Given the description of an element on the screen output the (x, y) to click on. 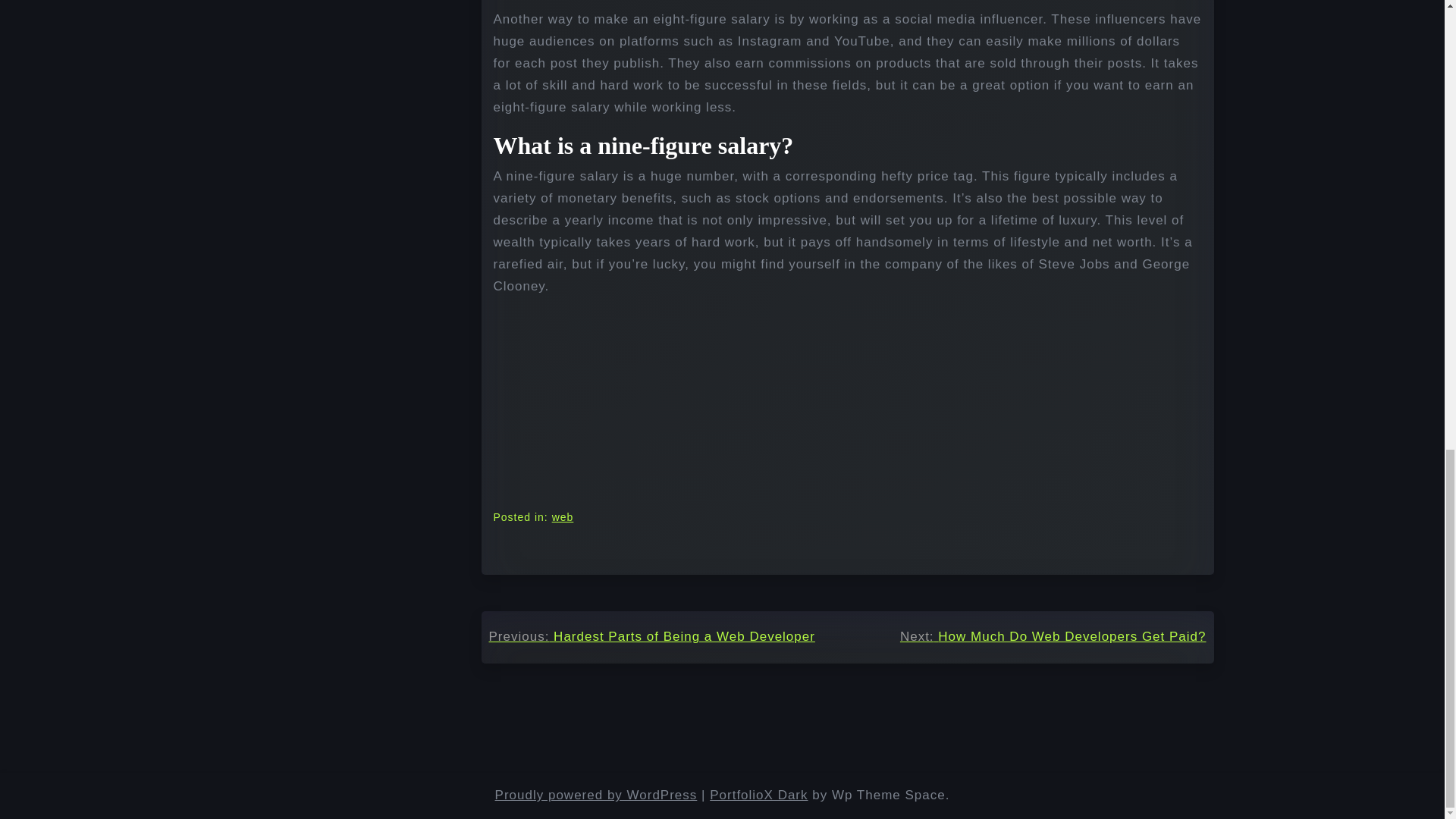
Proudly powered by WordPress (596, 795)
Next: How Much Do Web Developers Get Paid? (1053, 637)
Previous: Hardest Parts of Being a Web Developer (650, 637)
PortfolioX Dark (759, 795)
web (562, 517)
